Given the description of an element on the screen output the (x, y) to click on. 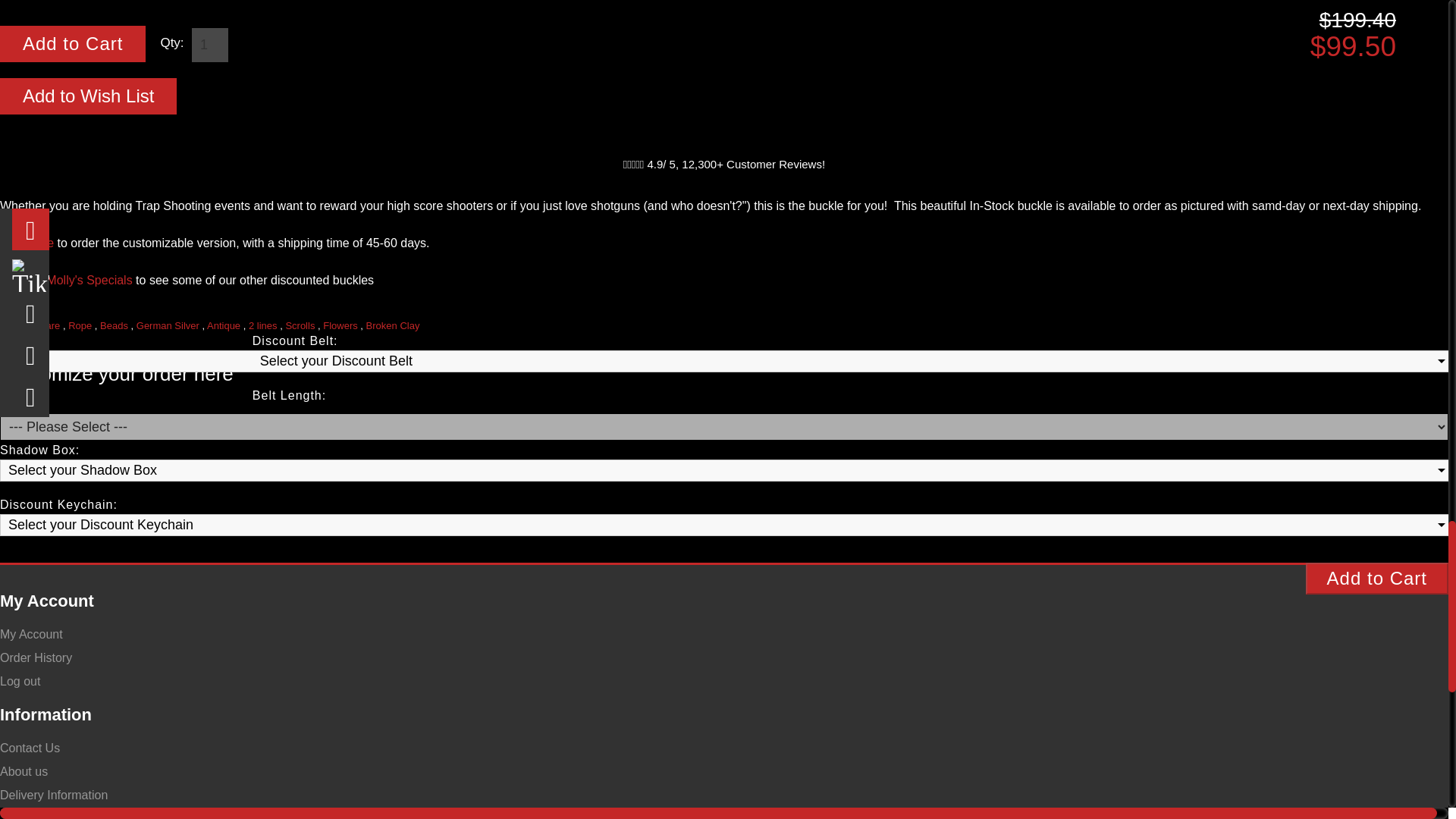
Add to Cart (72, 43)
1 (209, 45)
Add to Cart (1377, 578)
